Given the description of an element on the screen output the (x, y) to click on. 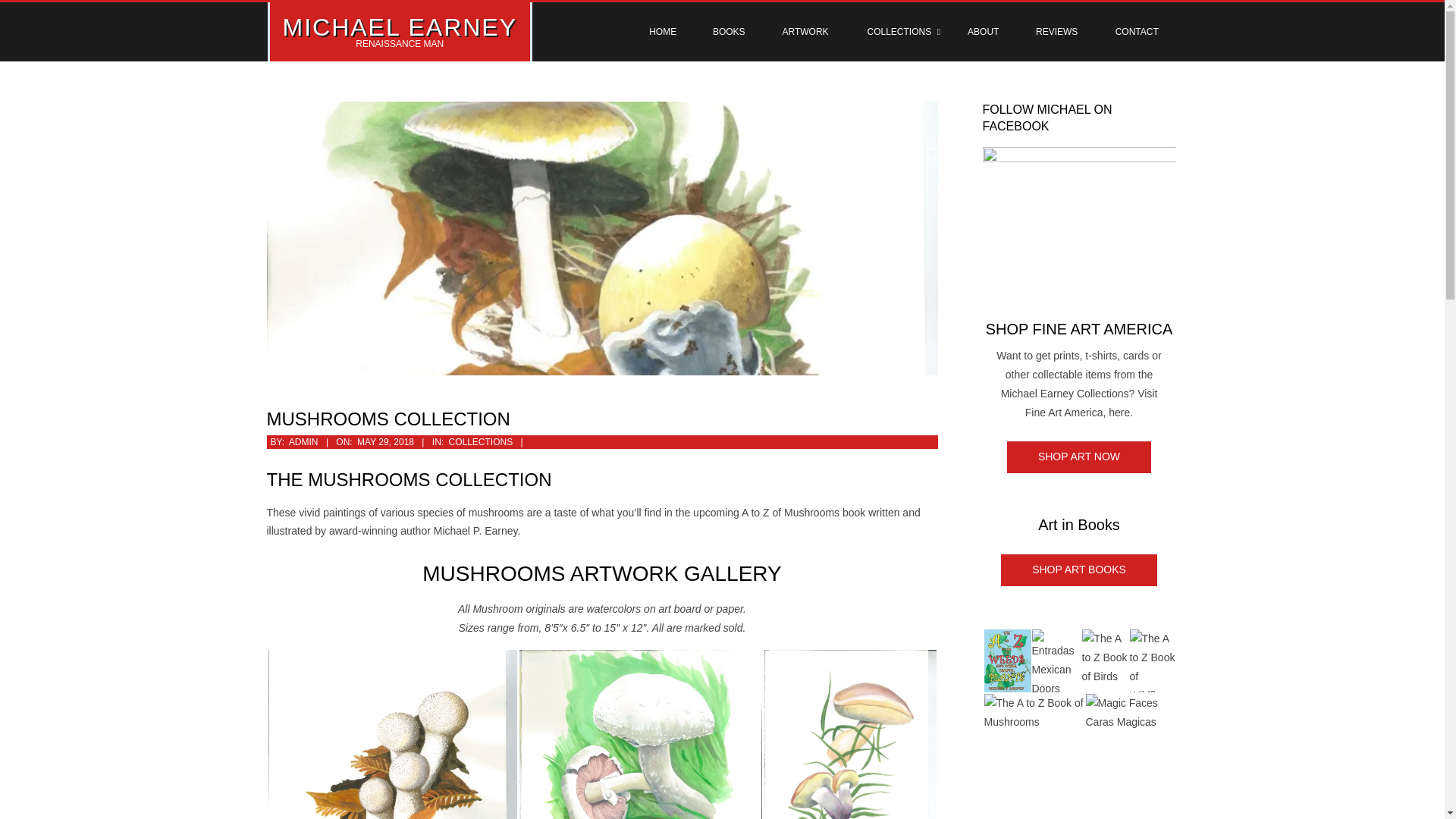
MICHAEL EARNEY (399, 26)
COLLECTIONS (898, 31)
BOOKS (728, 31)
SHOP ART NOW (1079, 457)
ABOUT (982, 31)
REVIEWS (1056, 31)
COLLECTIONS (480, 441)
Tuesday, May 29, 2018, 3:12 pm (384, 441)
CONTACT (1136, 31)
Posts by admin (303, 441)
